Given the description of an element on the screen output the (x, y) to click on. 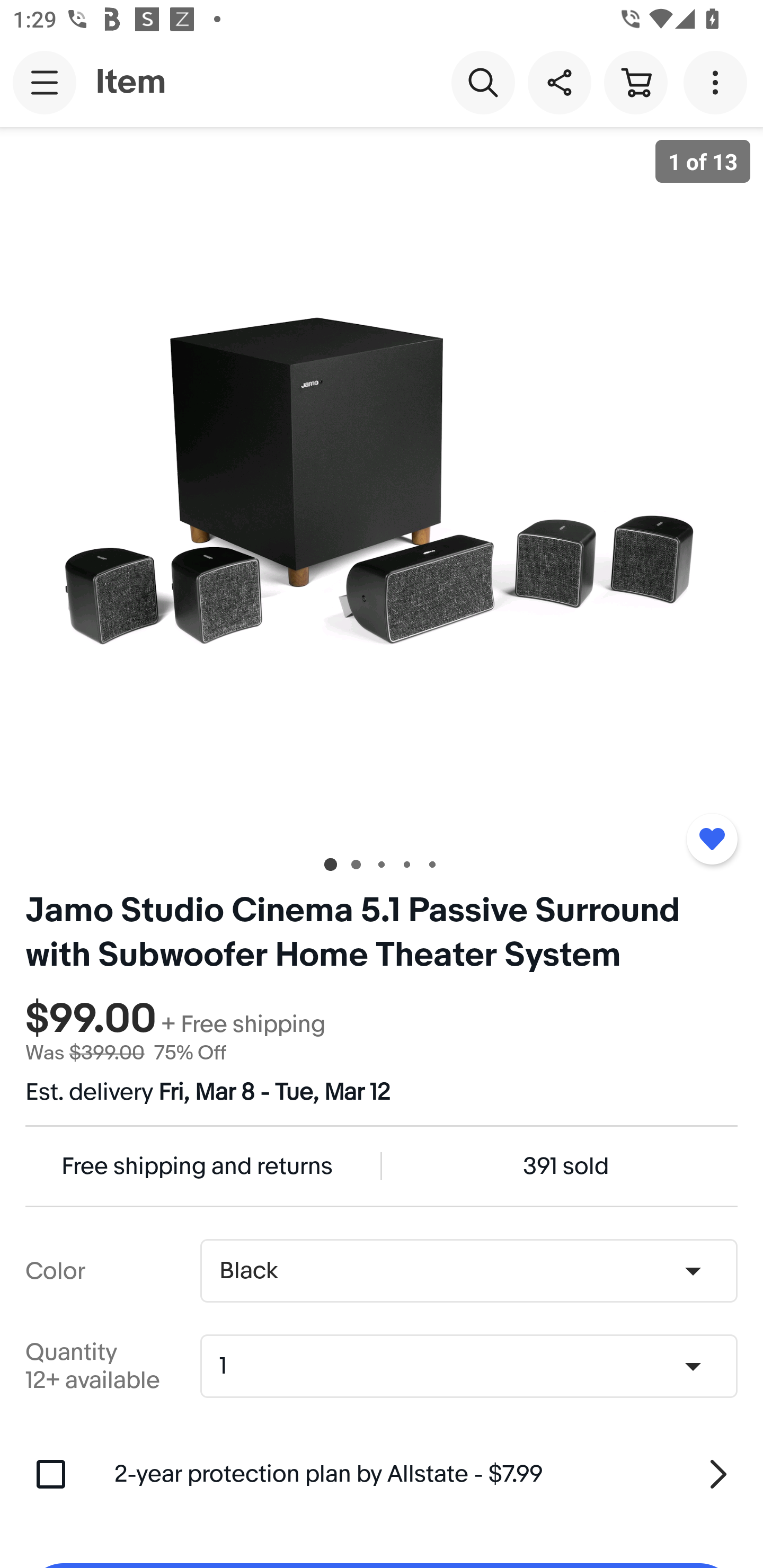
Main navigation, open (44, 82)
Search (482, 81)
Share this item (559, 81)
Cart button shopping cart (635, 81)
More options (718, 81)
Item image 1 of 13 (381, 482)
Added to watchlist (711, 838)
Color,Black Black (468, 1270)
Quantity,1,12+ available 1 (474, 1365)
2-year protection plan by Allstate - $7.99 (425, 1473)
